Given the description of an element on the screen output the (x, y) to click on. 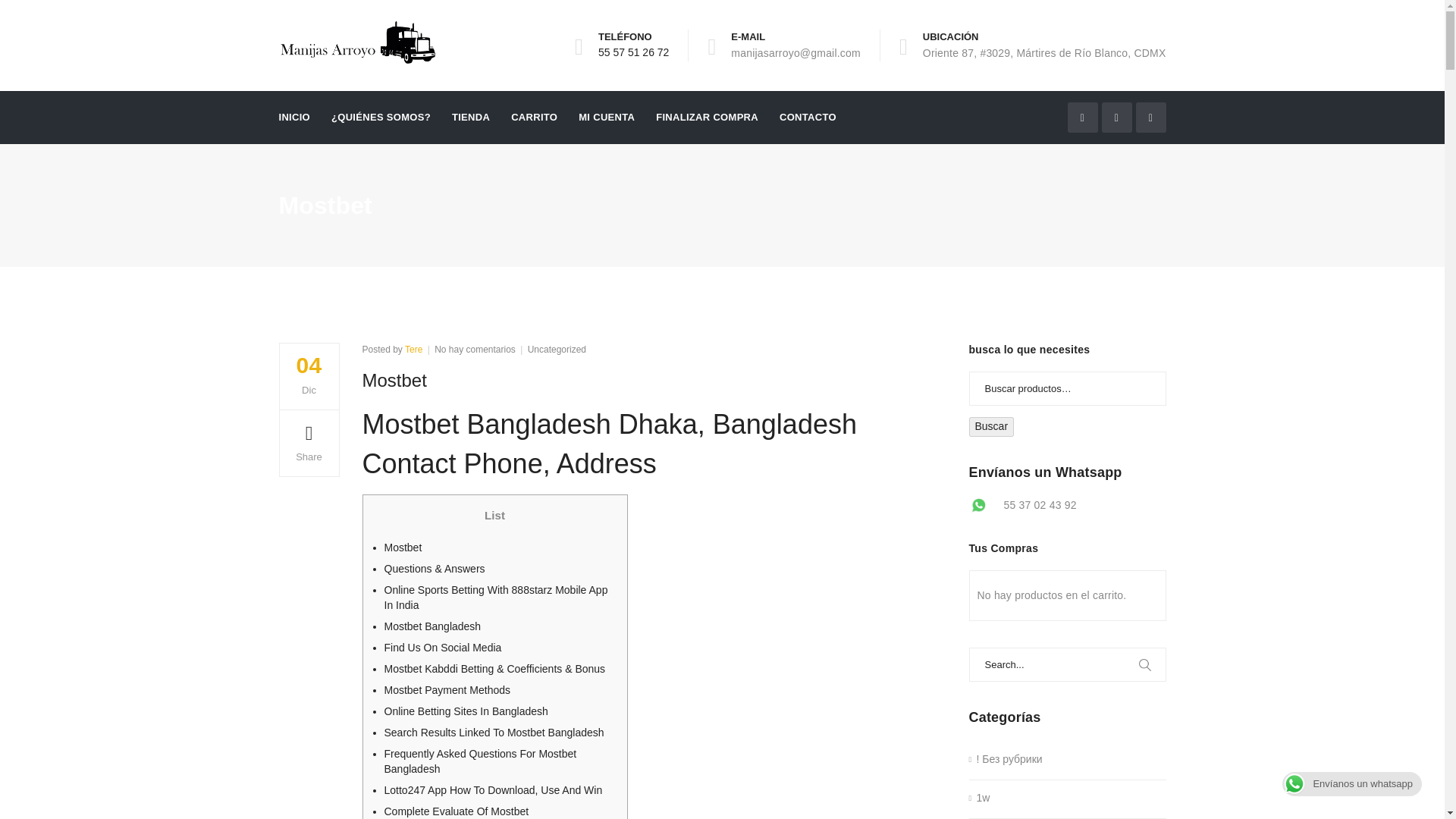
Tere (413, 348)
Online Sports Betting With 888starz Mobile App In India (495, 596)
CONTACTO (474, 348)
Lotto247 App How To Download, Use And Win (806, 117)
55 57 51 26 72 (493, 789)
Mostbet Payment Methods (633, 51)
Frequently Asked Questions For Mostbet Bangladesh (447, 689)
Complete Evaluate Of Mostbet (480, 760)
Search Results Linked To Mostbet Bangladesh (456, 811)
Buscar (494, 732)
Find Us On Social Media (991, 426)
FINALIZAR COMPRA (442, 647)
Mostbet Bangladesh (707, 117)
Online Betting Sites In Bangladesh (432, 625)
